Given the description of an element on the screen output the (x, y) to click on. 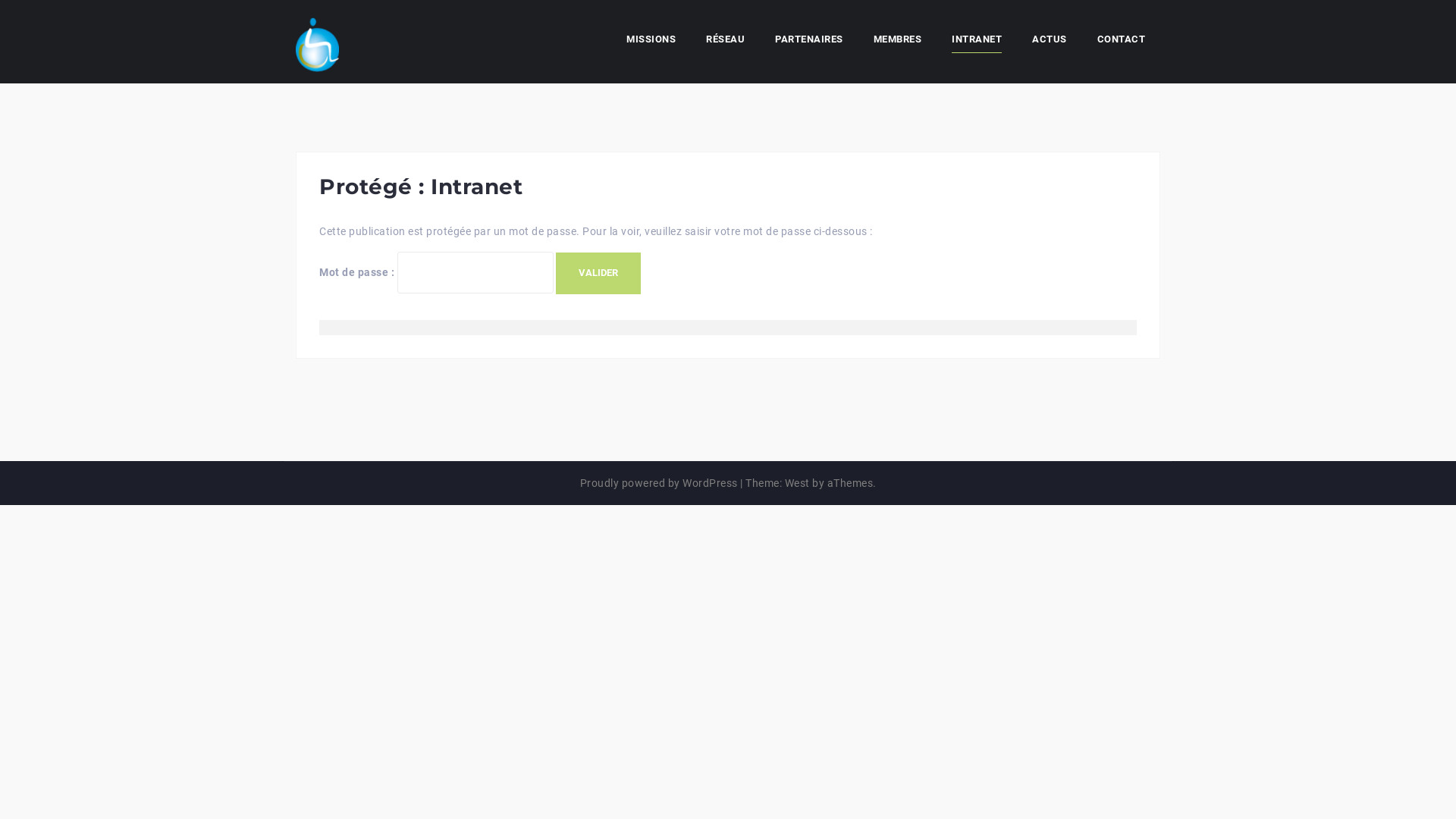
ASTA Element type: hover (316, 40)
INTRANET Element type: text (976, 41)
Proudly powered by WordPress Element type: text (658, 482)
MISSIONS Element type: text (650, 41)
CONTACT Element type: text (1120, 41)
PARTENAIRES Element type: text (809, 41)
MEMBRES Element type: text (897, 41)
ACTUS Element type: text (1049, 41)
Valider Element type: text (597, 273)
West Element type: text (796, 482)
